Given the description of an element on the screen output the (x, y) to click on. 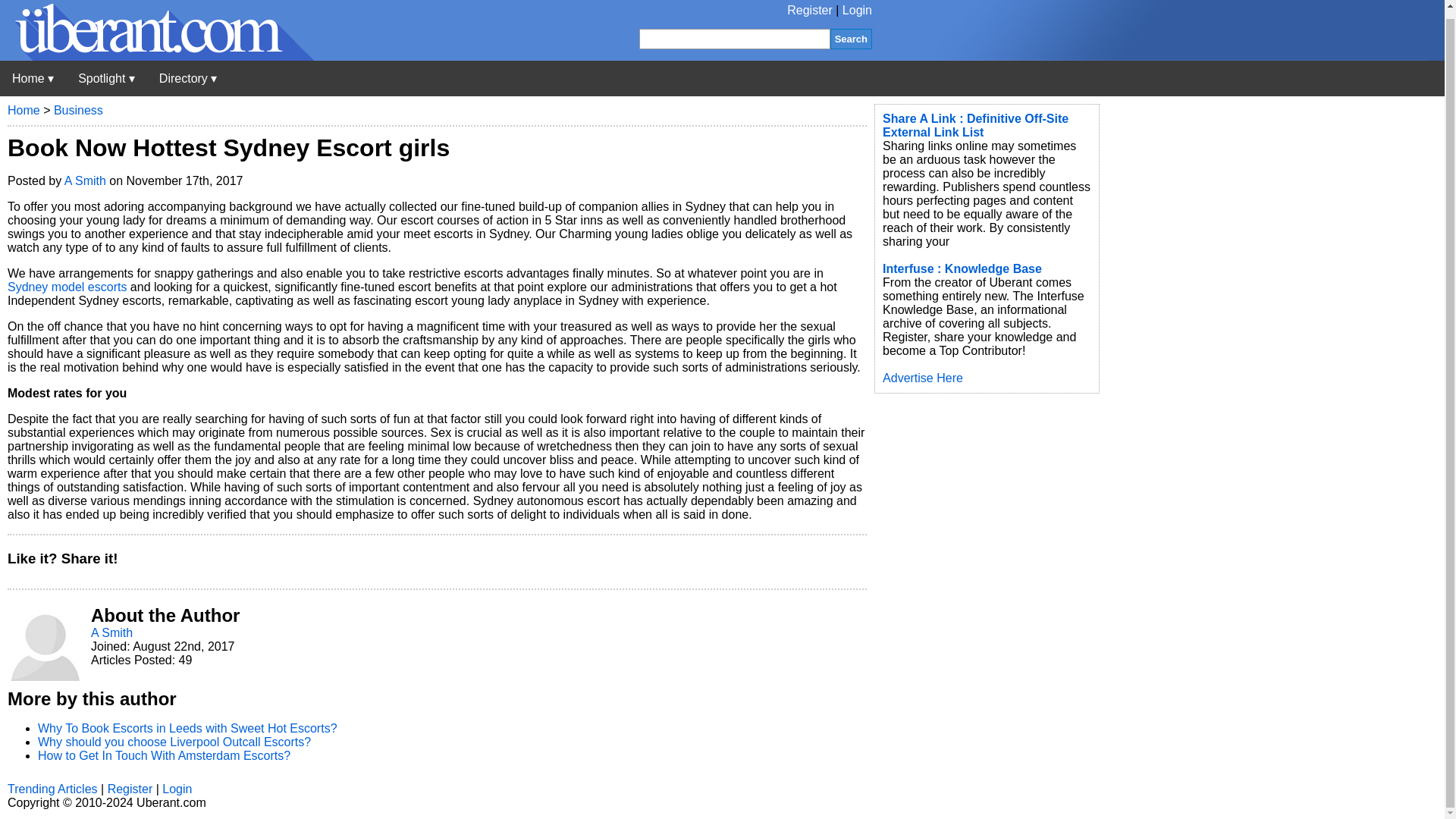
Uberant (32, 78)
Search (850, 38)
Register (809, 10)
Login (857, 10)
Uberant (157, 56)
Search (850, 38)
